Given the description of an element on the screen output the (x, y) to click on. 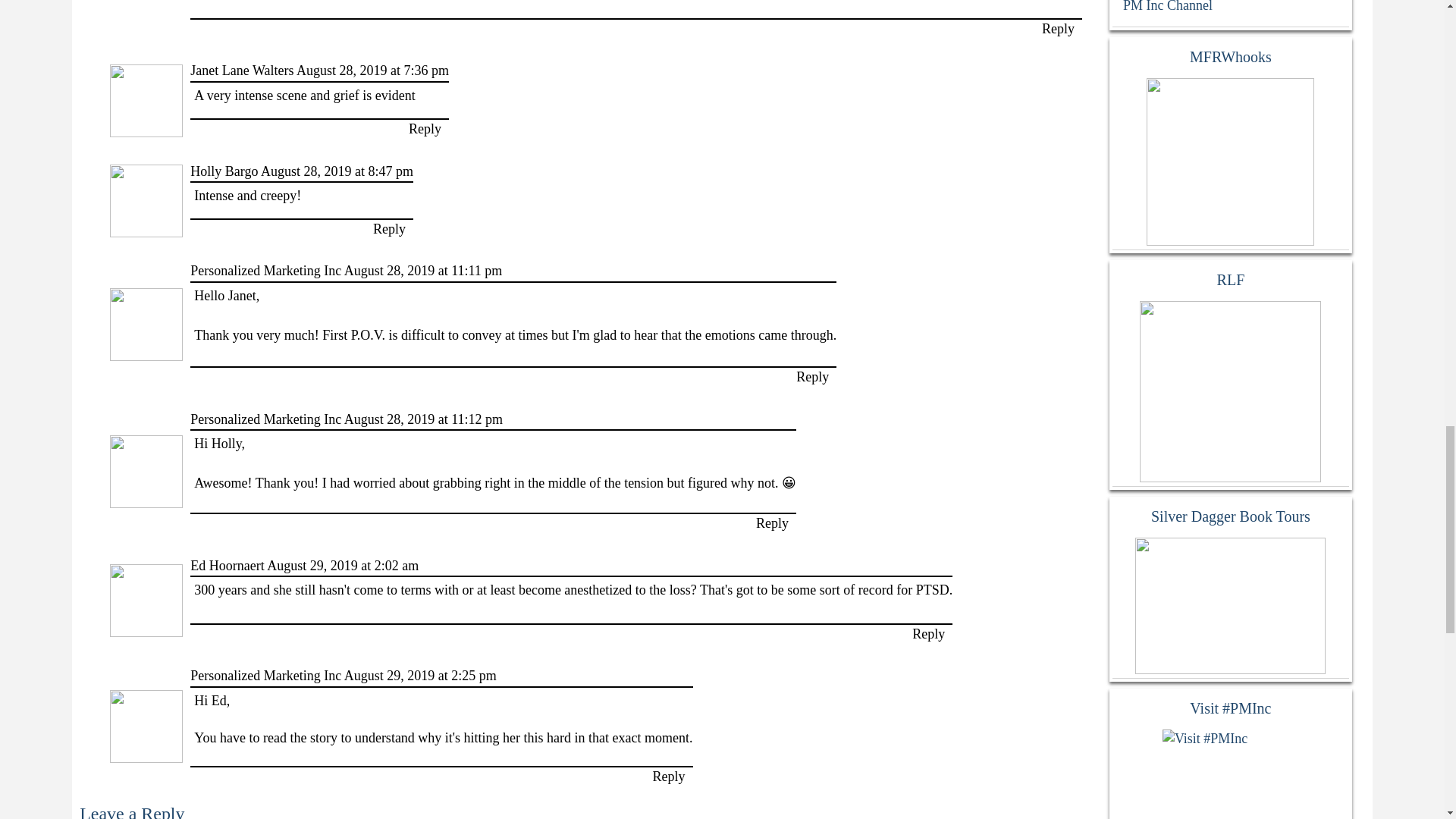
Reply (1058, 28)
Personalized Marketing Inc (265, 270)
August 28, 2019 at 8:47 pm (336, 171)
Holly Bargo (223, 171)
Reply (425, 128)
August 28, 2019 at 11:11 pm (422, 270)
August 28, 2019 at 7:36 pm (372, 70)
Janet Lane Walters (242, 70)
Reply (812, 376)
Reply (389, 228)
